Given the description of an element on the screen output the (x, y) to click on. 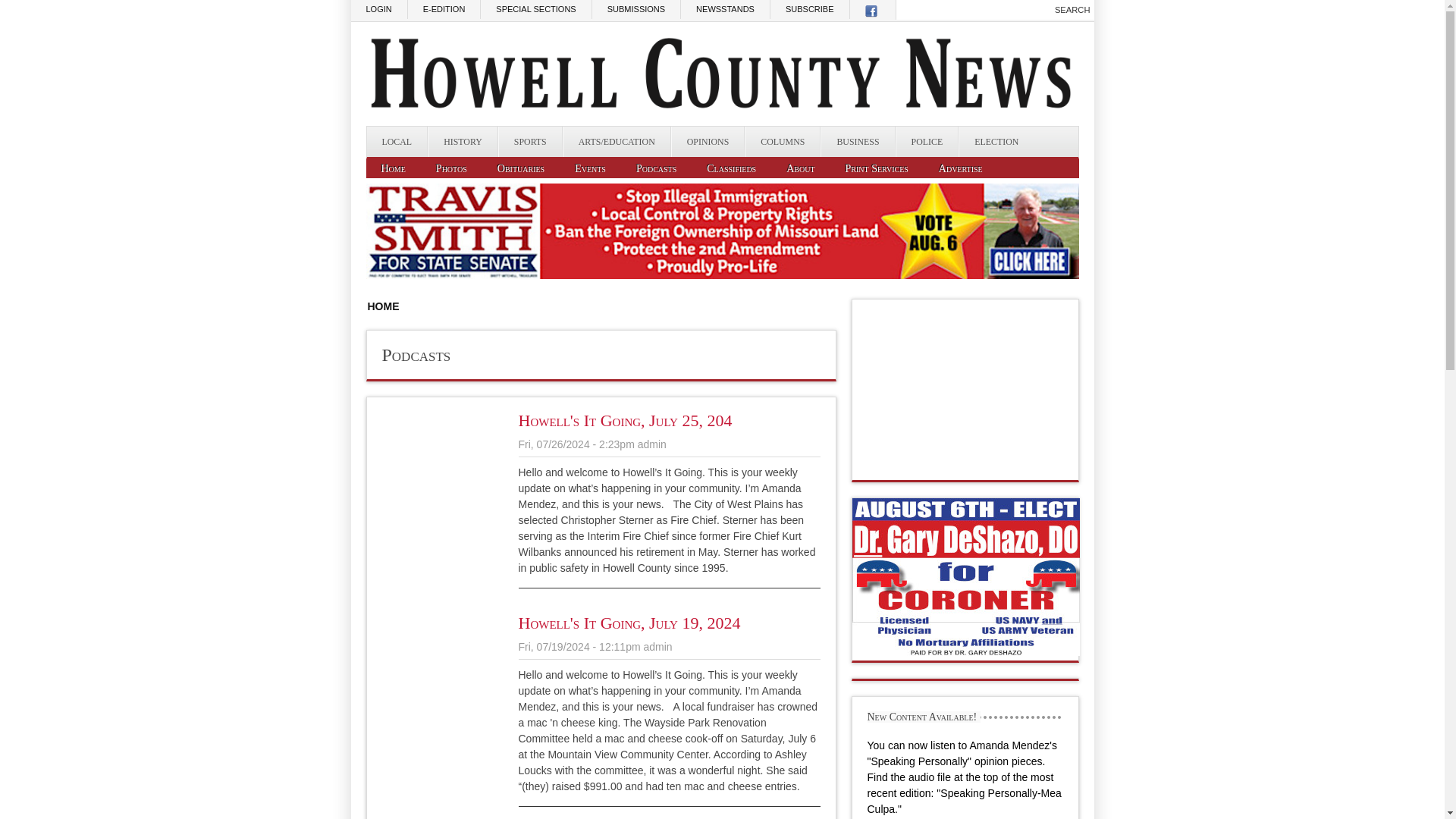
NEWSSTANDS (725, 9)
History (462, 141)
About (800, 168)
SPECIAL SECTIONS (535, 9)
Howell'S It Going, July 25, 204 (625, 420)
Events (590, 168)
Business (858, 141)
Election (995, 141)
POLICE (927, 141)
Howell'S It Going, July 19, 2024 (629, 622)
Home (392, 168)
HOME (382, 306)
LOCAL (397, 141)
ELECTION (995, 141)
